Given the description of an element on the screen output the (x, y) to click on. 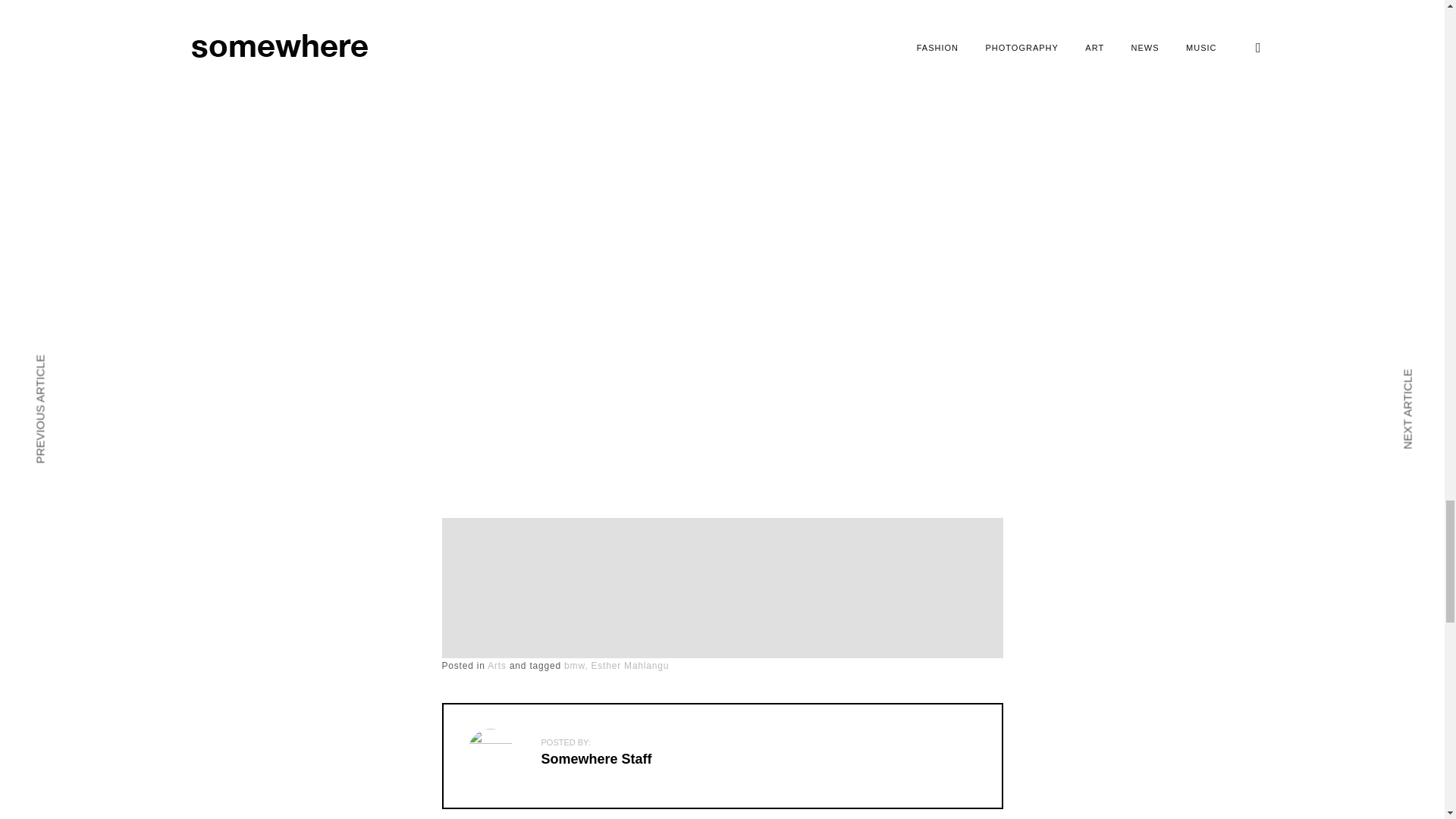
Arts (496, 665)
Esther Mahlangu (629, 665)
bmw (576, 665)
